Given the description of an element on the screen output the (x, y) to click on. 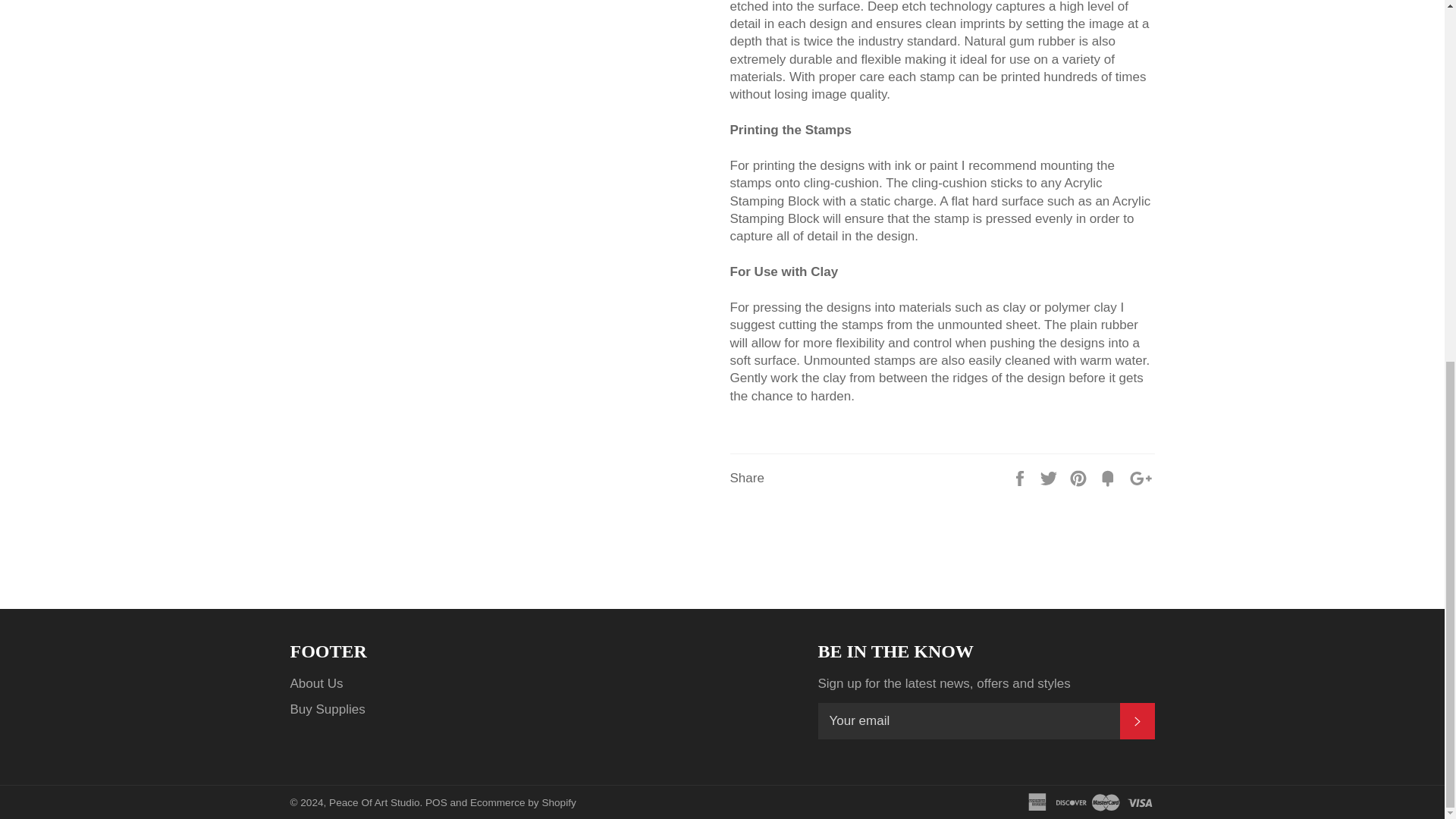
Tweet (1050, 477)
Ecommerce by Shopify (523, 802)
Buy Supplies (327, 708)
Share (1021, 477)
Pin it (1079, 477)
About Us (315, 683)
Fancy (1110, 477)
POS (435, 802)
Peace Of Art Studio (374, 802)
SUBSCRIBE (1136, 720)
